Given the description of an element on the screen output the (x, y) to click on. 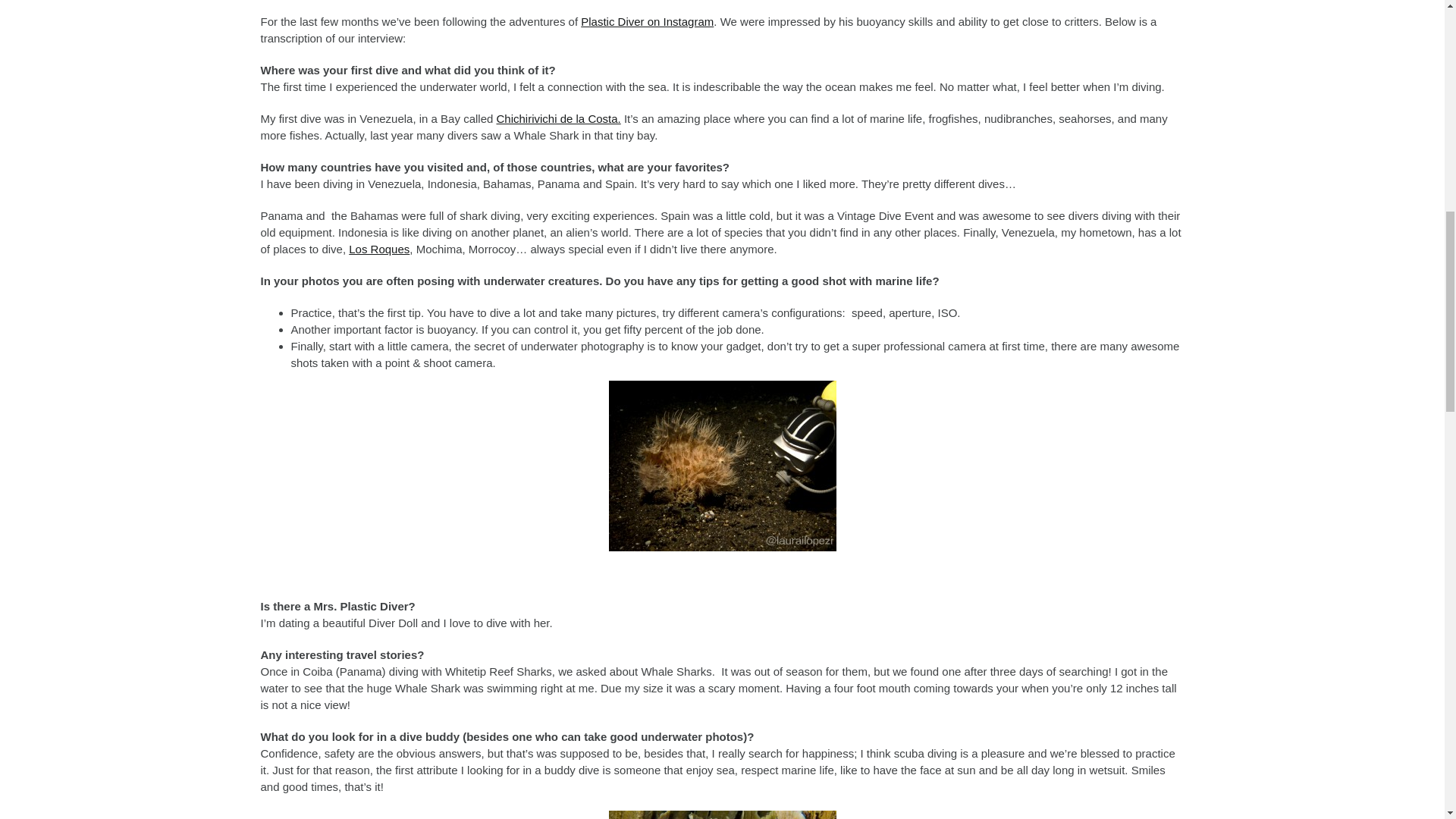
Plastic Diver on Instagram (646, 21)
Plastic Diver and Hairy Frogfish (721, 465)
Los Roques scuba diving national park (379, 248)
Chichiriviche de la Costa dive site (558, 118)
